Given the description of an element on the screen output the (x, y) to click on. 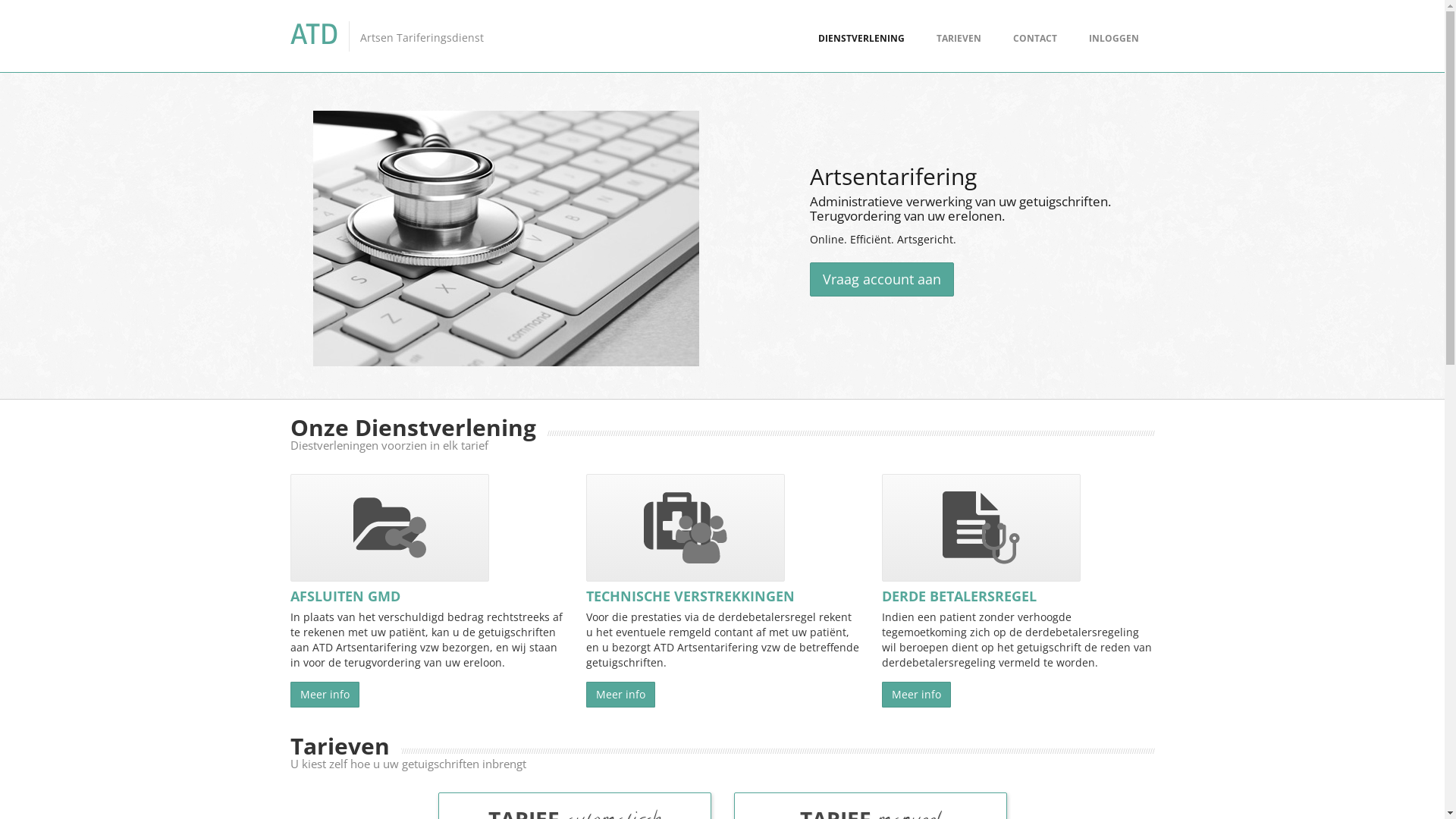
DIENSTVERLENING Element type: text (861, 37)
TECHNISCHE VERSTREKKINGEN Element type: text (689, 595)
Meer info Element type: text (915, 694)
Vraag account aan Element type: text (881, 279)
AFSLUITEN GMD Element type: text (344, 595)
Meer info Element type: text (619, 694)
CONTACT Element type: text (1034, 37)
INLOGGEN Element type: text (1113, 37)
DERDE BETALERSREGEL Element type: text (958, 595)
ATD Element type: text (313, 34)
Meer info Element type: text (323, 694)
TARIEVEN Element type: text (958, 37)
